Given the description of an element on the screen output the (x, y) to click on. 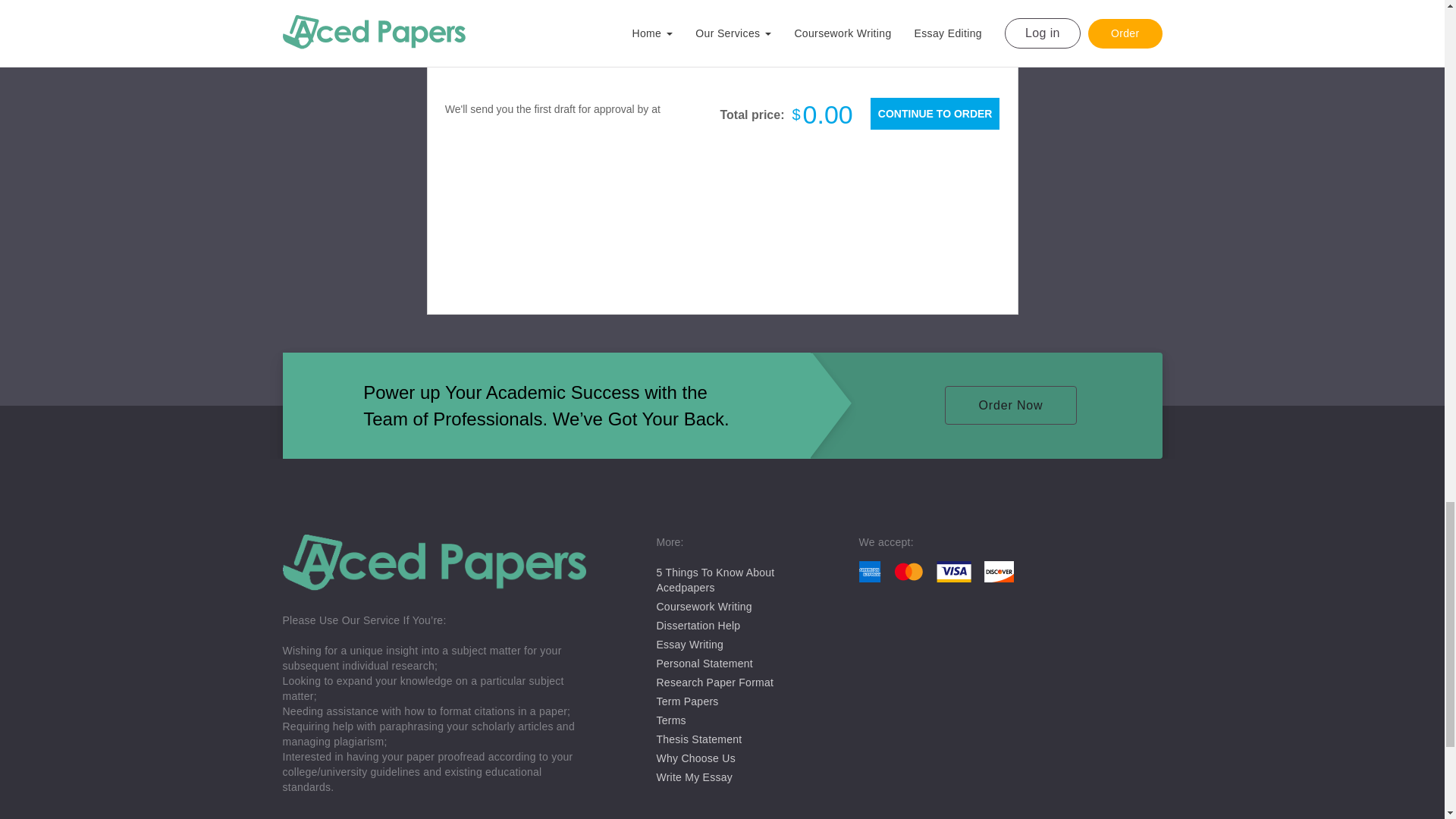
1 (943, 19)
Increase (983, 19)
Continue to Order (934, 113)
Decrease (902, 19)
Continue to order (934, 113)
